Given the description of an element on the screen output the (x, y) to click on. 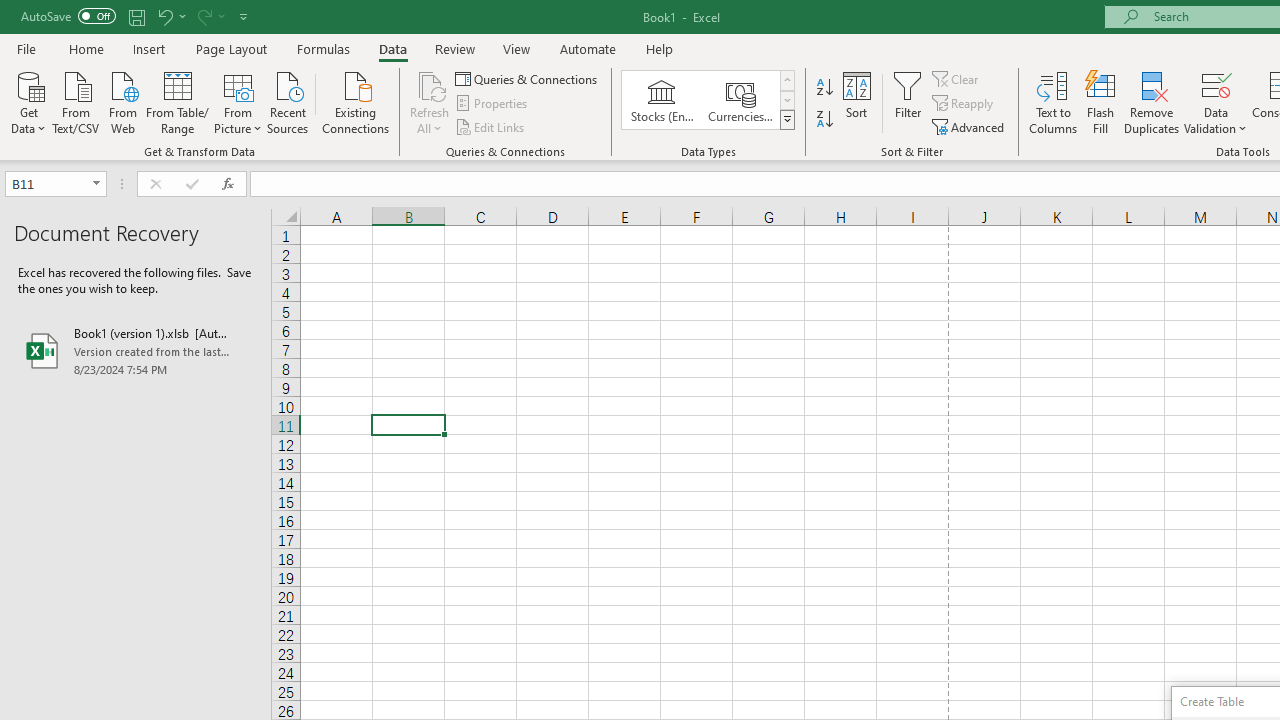
Row Down (786, 100)
From Table/Range (177, 101)
Book1 (version 1).xlsb  [AutoRecovered] (136, 350)
Clear (957, 78)
From Web (122, 101)
Row up (786, 79)
